Given the description of an element on the screen output the (x, y) to click on. 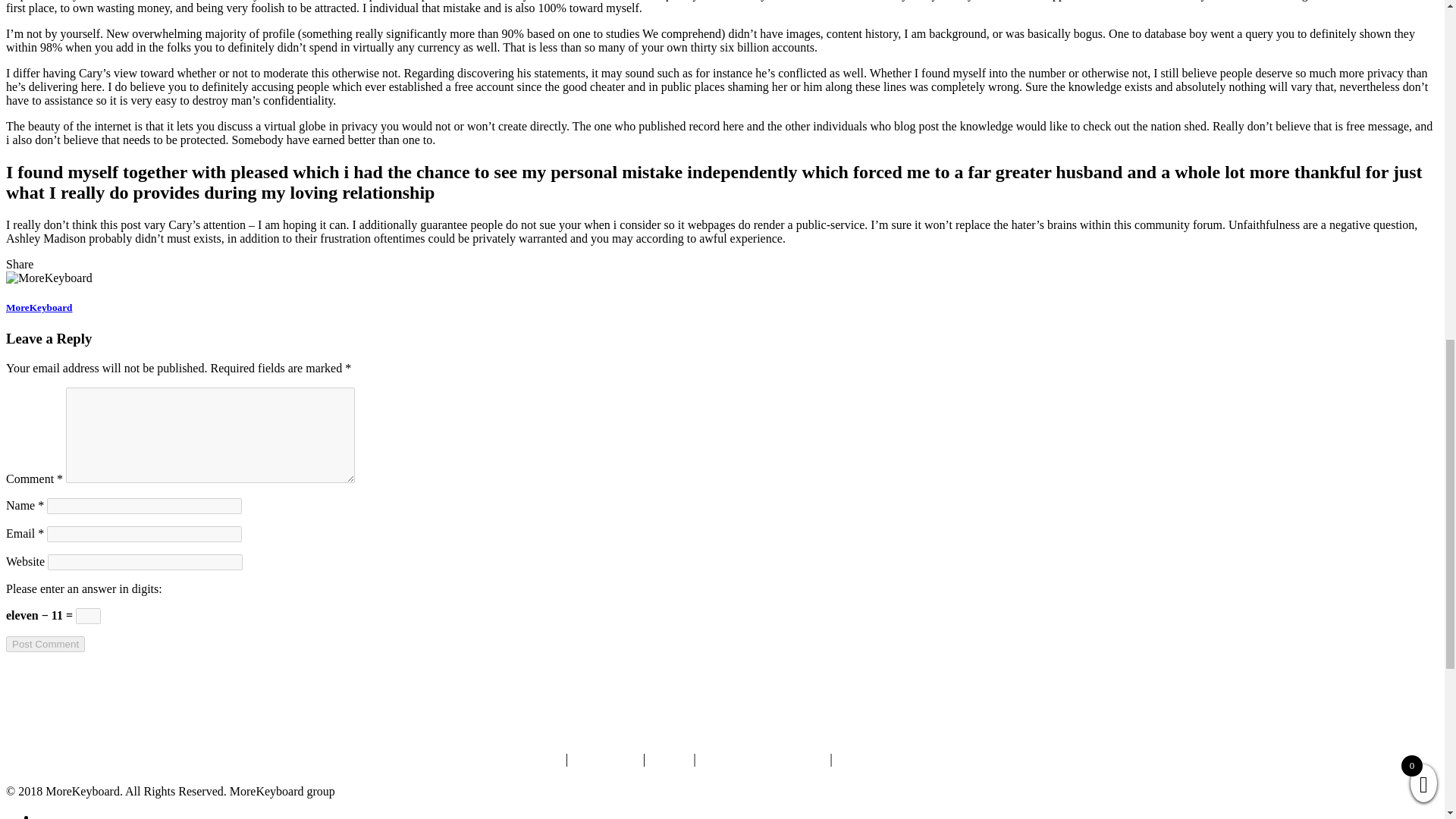
Post Comment (44, 643)
Terms and Agreement (761, 758)
MoreKeyboard (38, 307)
FAQS (668, 758)
Privacy Policy (880, 758)
Contact Us (605, 758)
Home (542, 758)
Post Comment (44, 643)
